Given the description of an element on the screen output the (x, y) to click on. 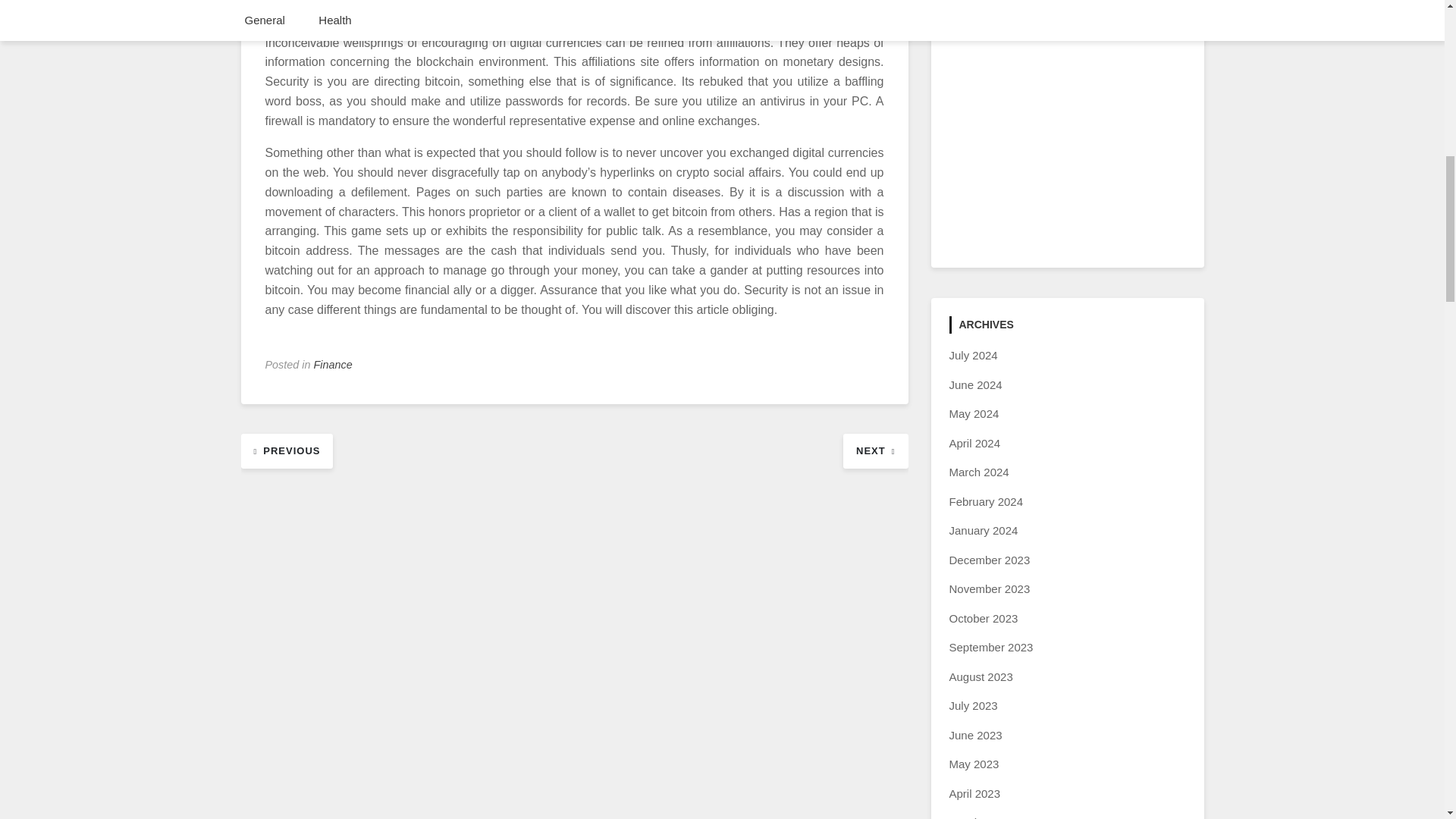
July 2024 (973, 354)
February 2024 (986, 501)
May 2024 (973, 413)
April 2023 (975, 793)
November 2023 (989, 588)
June 2024 (976, 384)
March 2024 (979, 472)
September 2023 (991, 646)
March 2023 (979, 817)
October 2023 (983, 617)
Finance (333, 364)
NEXT (875, 449)
December 2023 (989, 559)
August 2023 (981, 676)
July 2023 (973, 705)
